Given the description of an element on the screen output the (x, y) to click on. 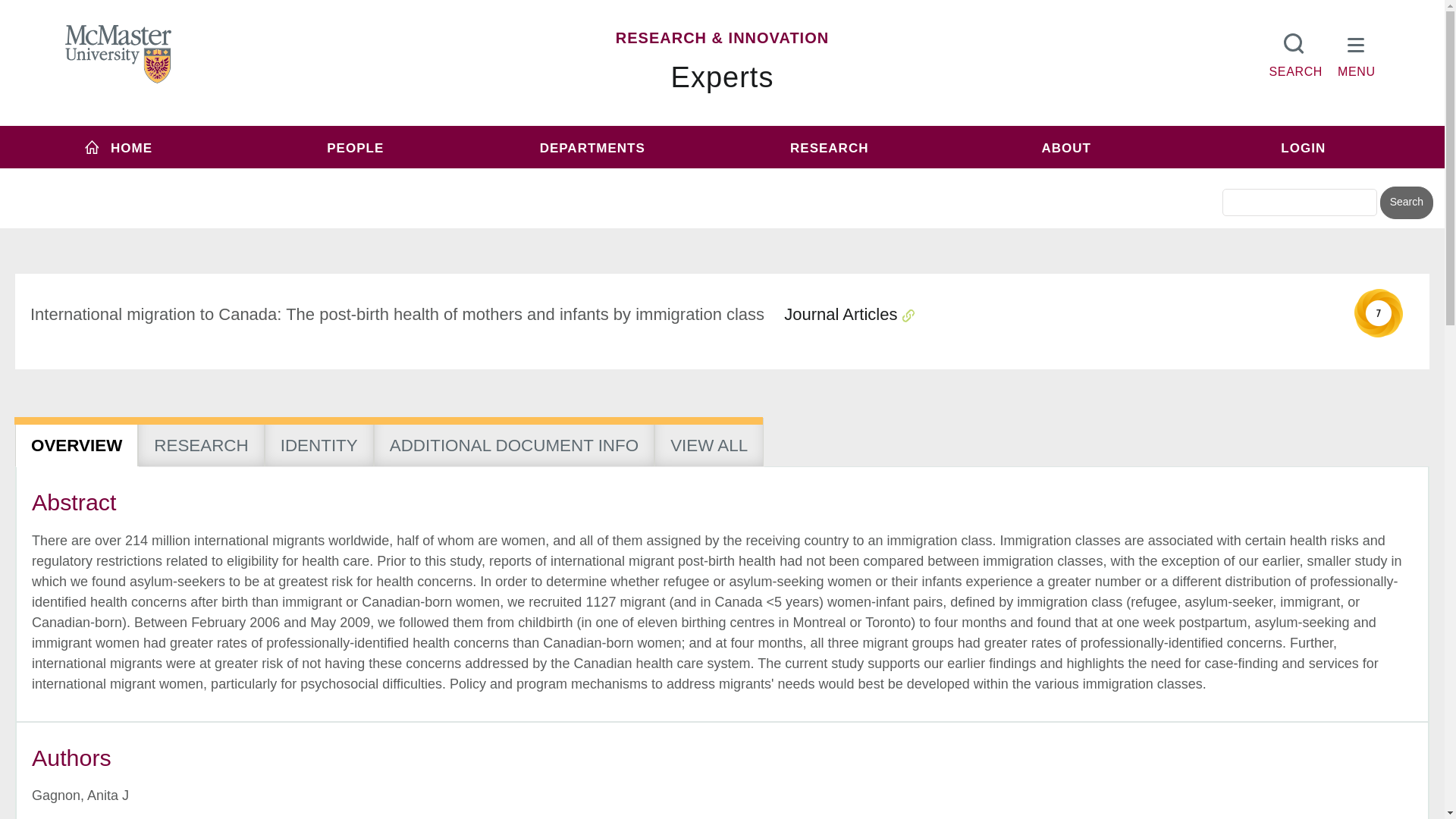
Experts (722, 77)
Research menu item (829, 147)
McMaster Univeristy Logo (118, 54)
Search (1406, 202)
HOME (118, 147)
inurl:experts.mcmaster.ca (601, 175)
SEARCH (1295, 51)
DEPARTMENTS (592, 147)
MENU (1356, 51)
MCMASTER LOGO (118, 54)
